Given the description of an element on the screen output the (x, y) to click on. 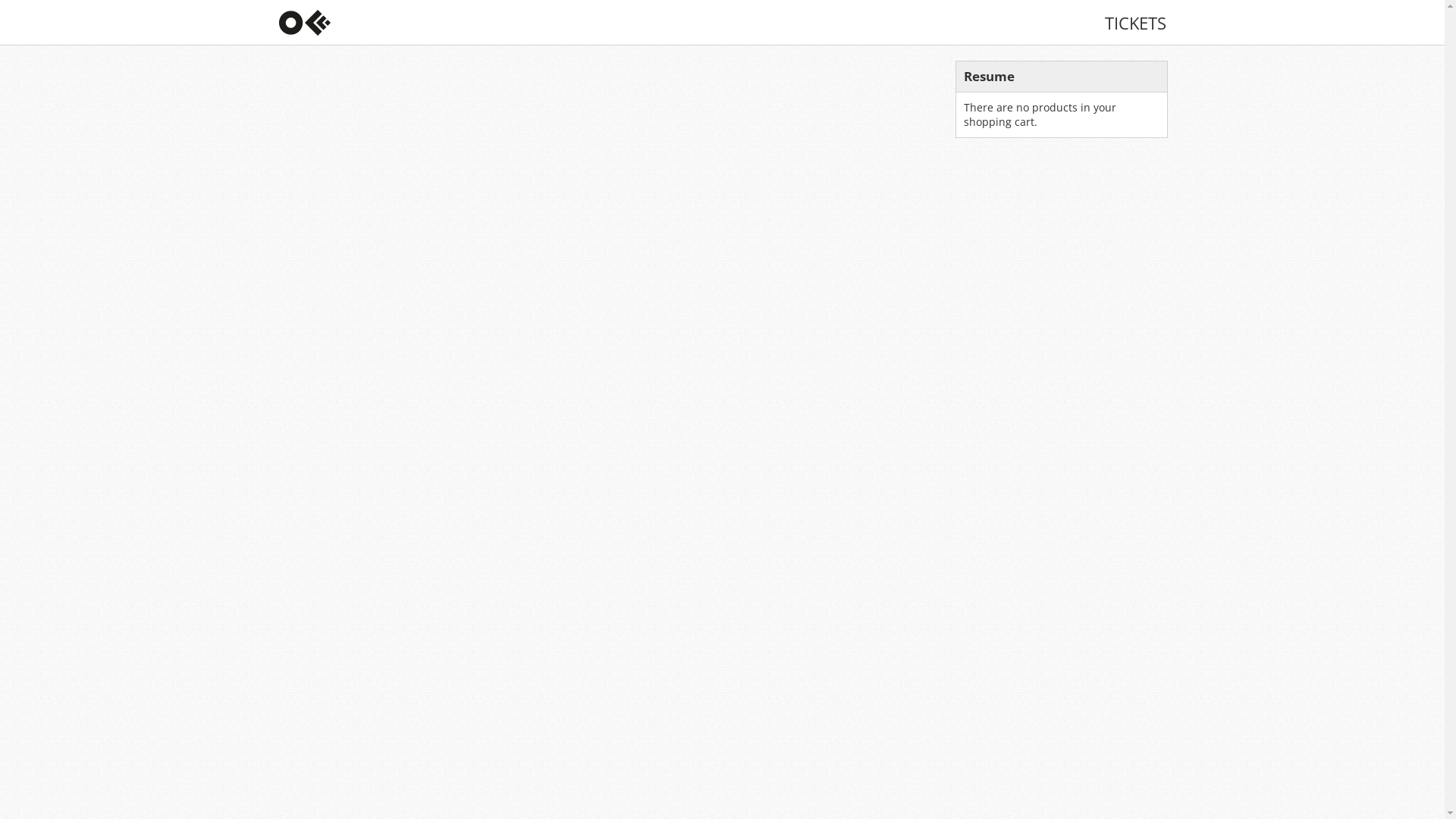
OFFF Element type: text (328, 22)
